Given the description of an element on the screen output the (x, y) to click on. 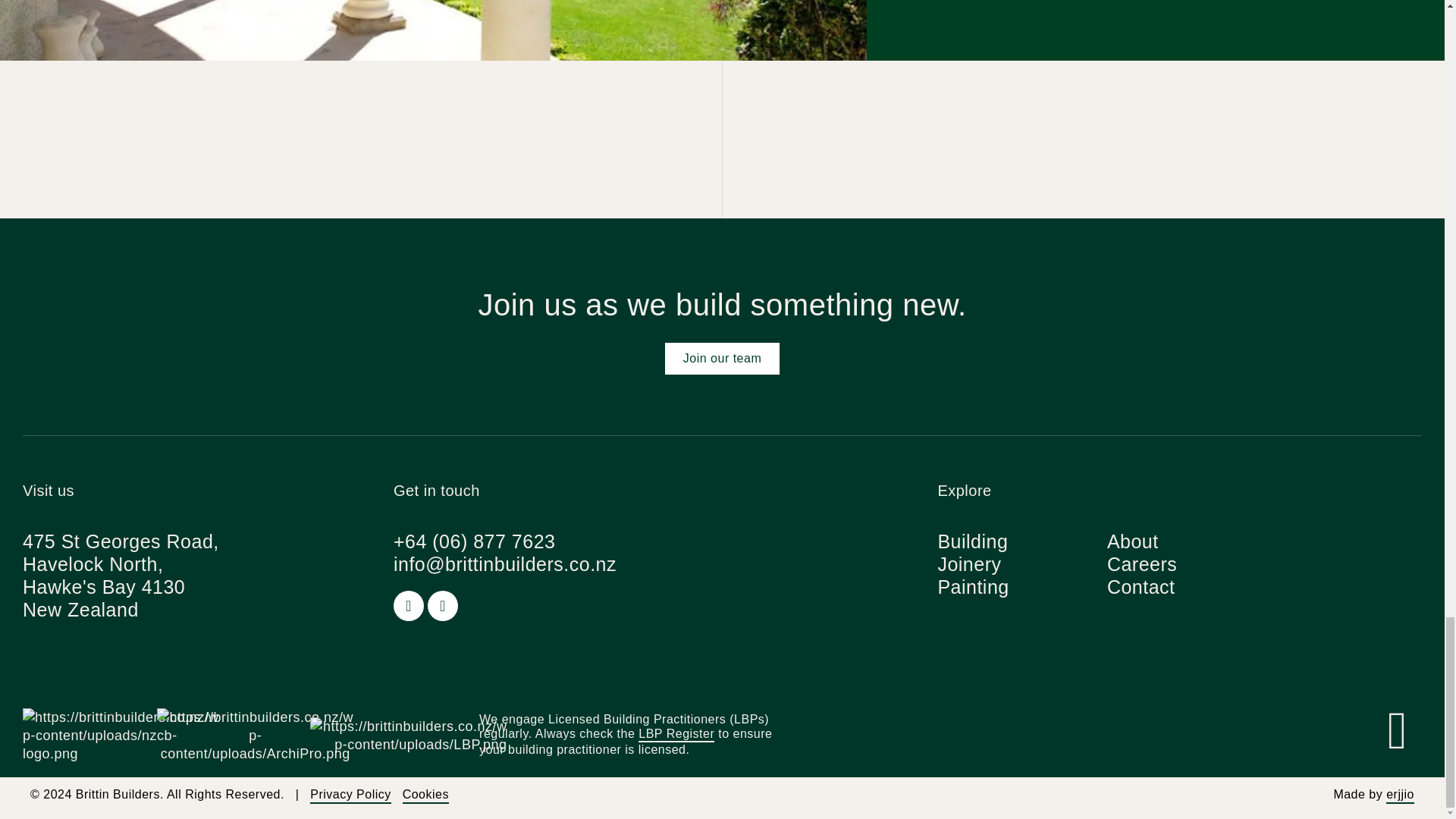
Join our team (721, 358)
Building (972, 541)
